Given the description of an element on the screen output the (x, y) to click on. 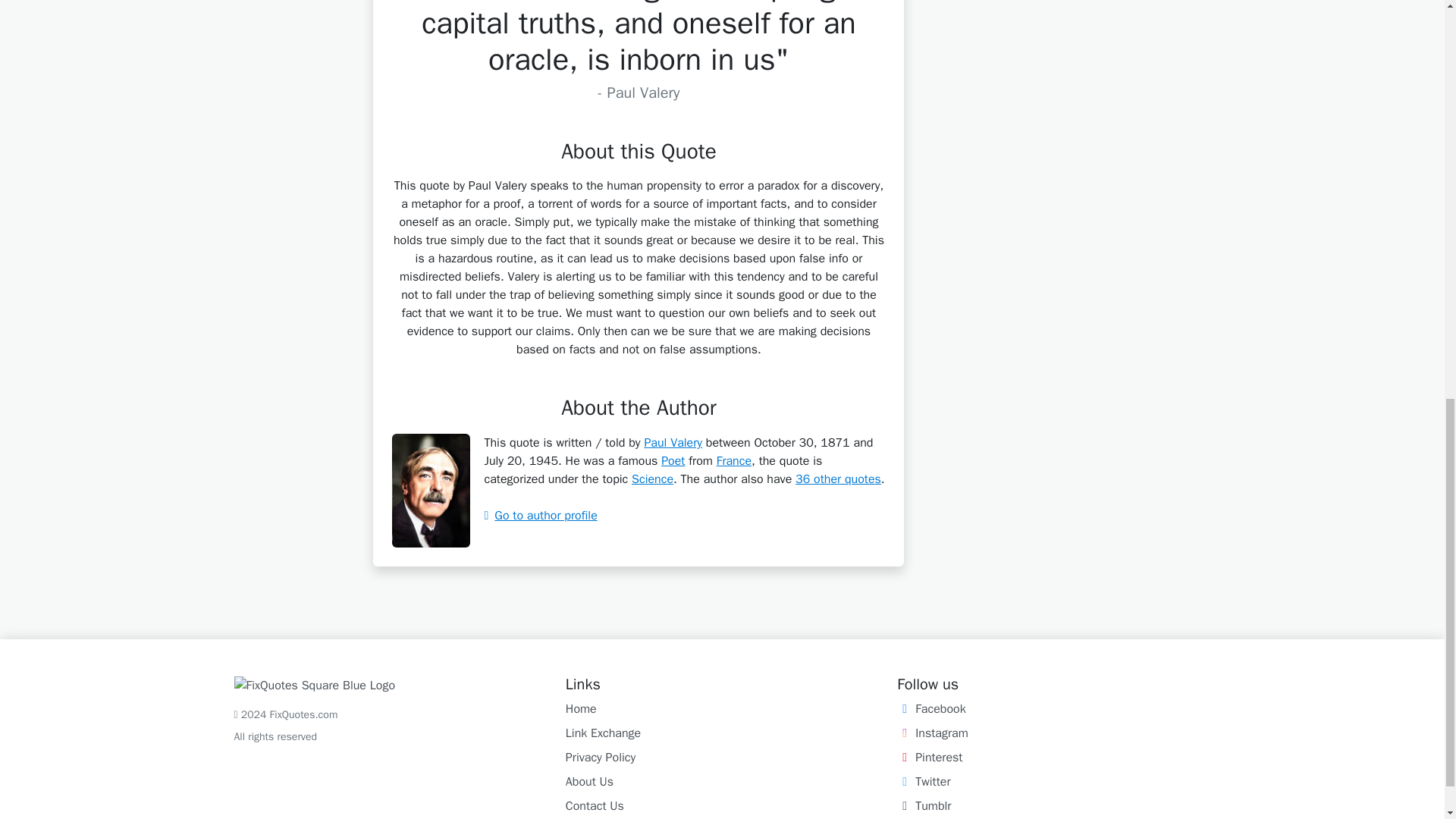
Contact Us (595, 806)
France (733, 460)
Instagram (932, 733)
Poet (672, 460)
Pinterest (929, 757)
Paul Valery (672, 442)
Science (651, 478)
Go to author profile (539, 515)
Twitter (923, 781)
About Us (589, 781)
